Given the description of an element on the screen output the (x, y) to click on. 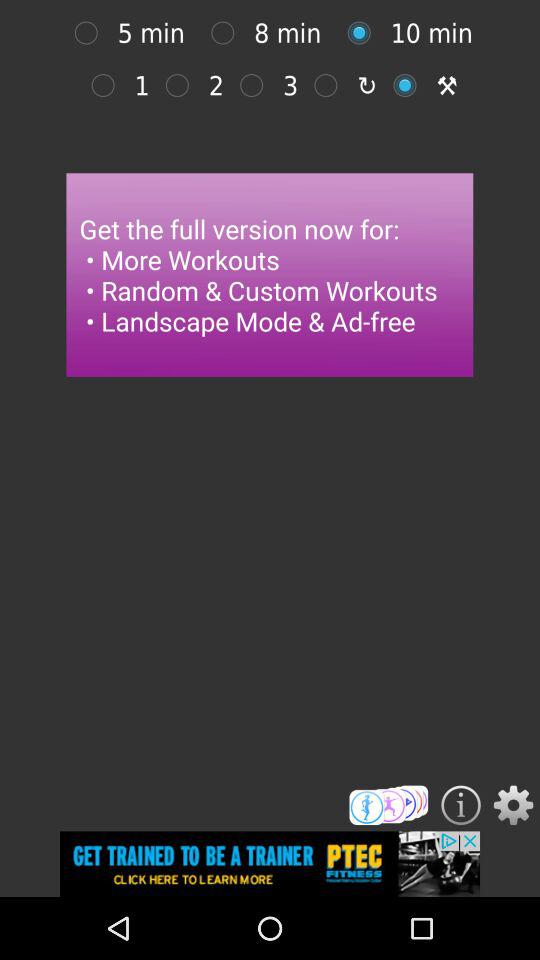
open settings (513, 805)
